Given the description of an element on the screen output the (x, y) to click on. 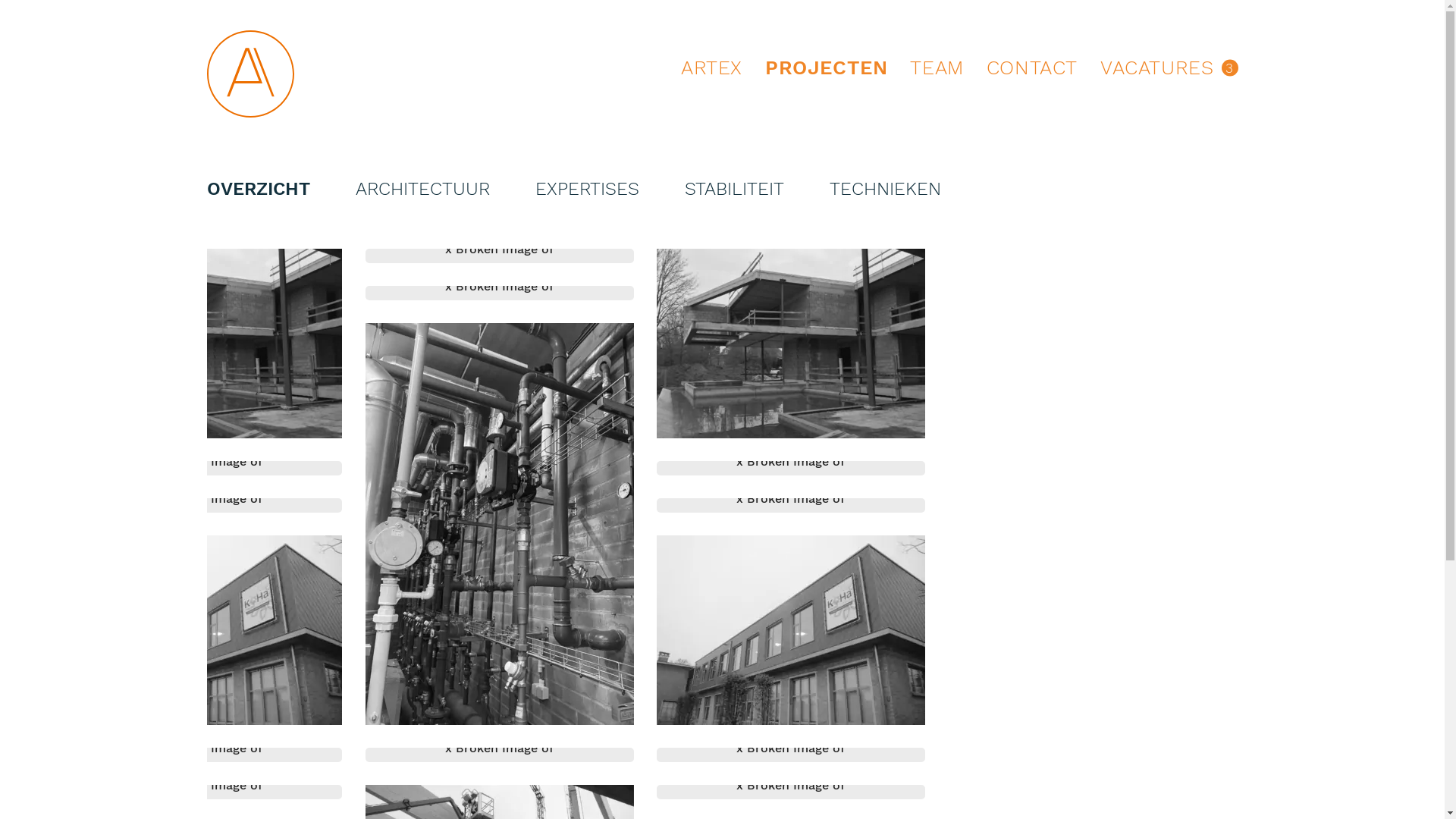
VACATURES
3 Element type: text (1168, 71)
PROJECTEN Element type: text (826, 71)
CONTACT Element type: text (1031, 71)
Ga naar de homepage Element type: hover (249, 73)
ARTEX Element type: text (711, 71)
TEAM Element type: text (936, 71)
